Given the description of an element on the screen output the (x, y) to click on. 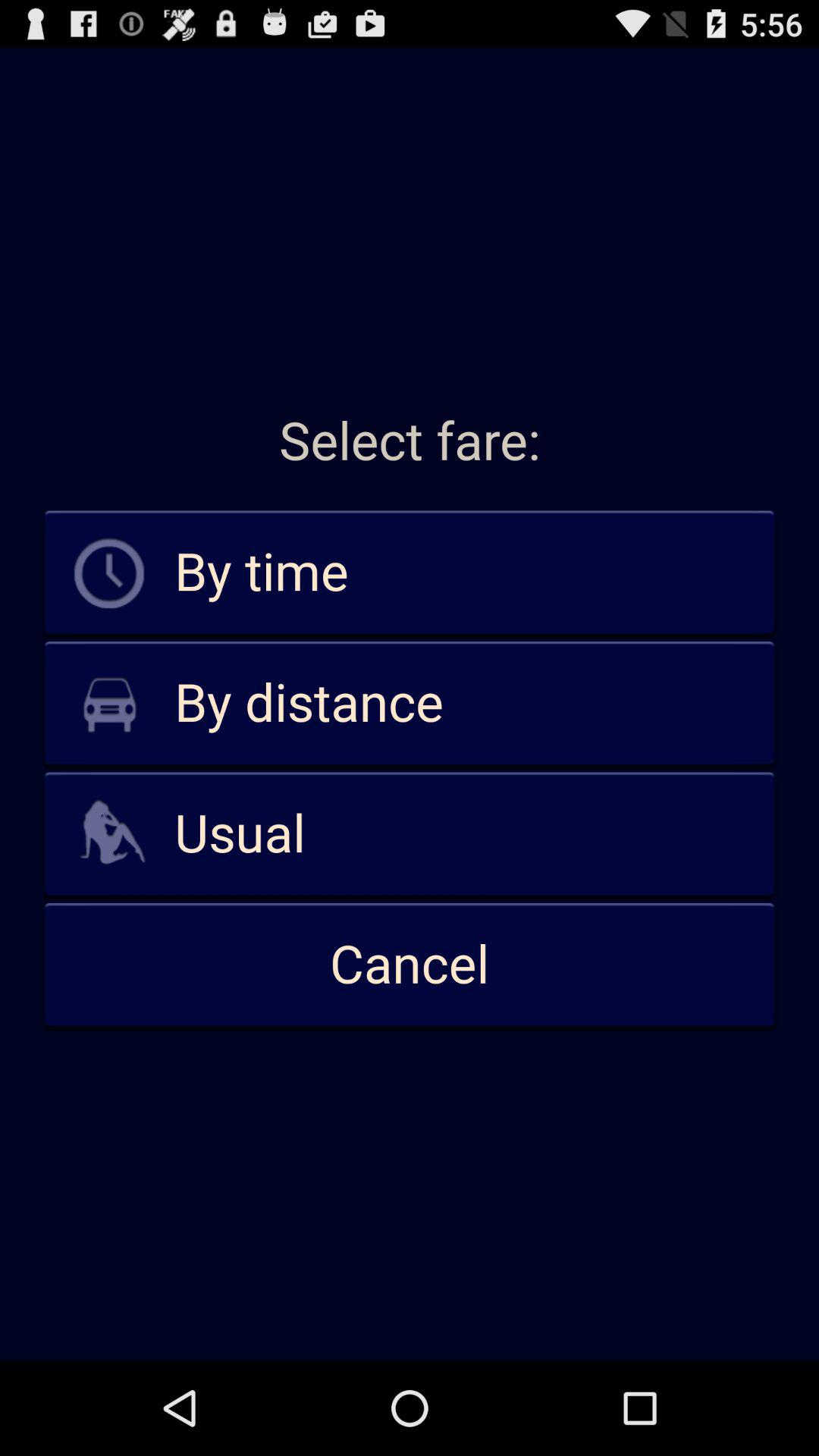
turn off the by distance icon (409, 703)
